Given the description of an element on the screen output the (x, y) to click on. 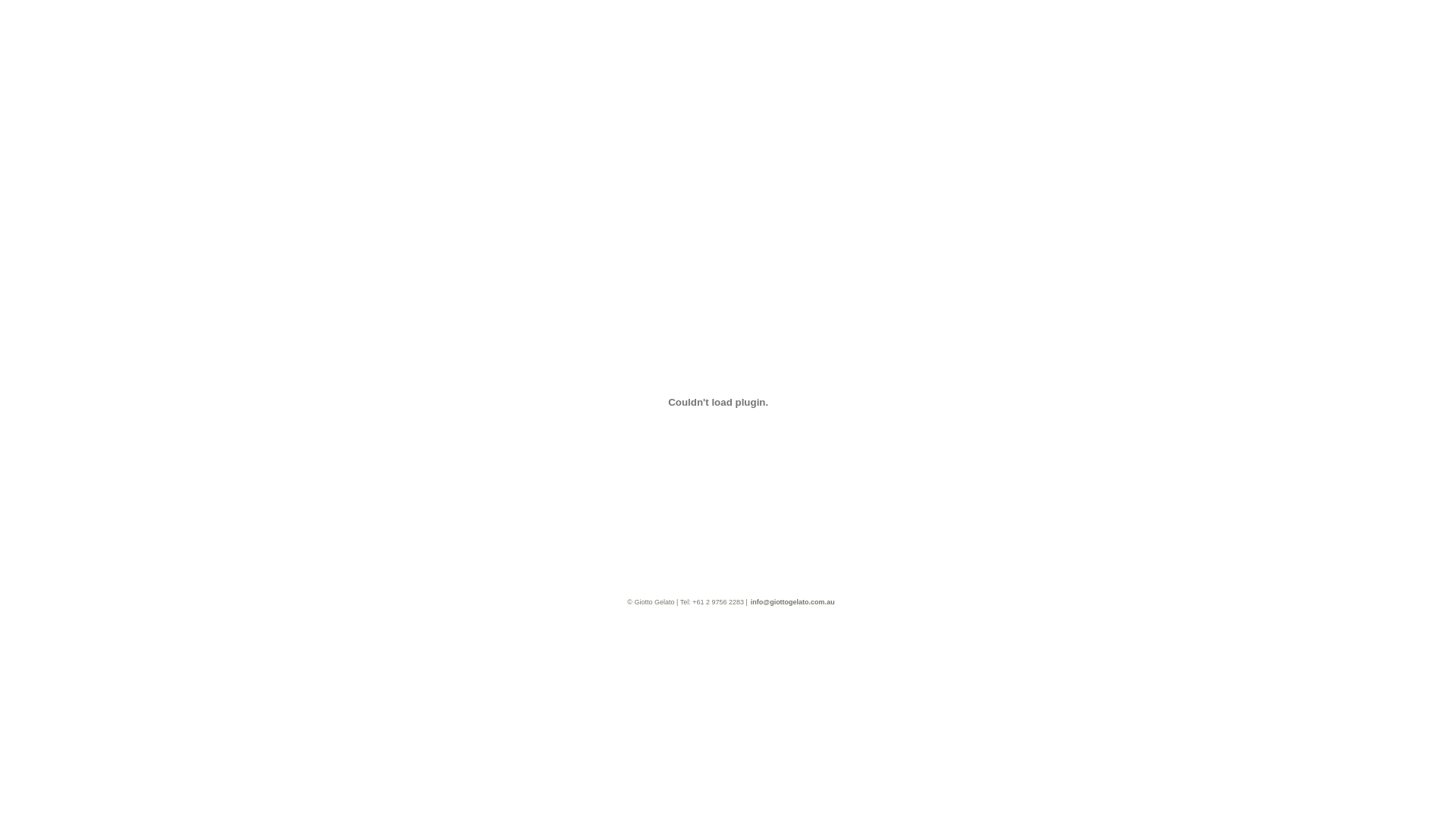
info@giottogelato.com.au Element type: text (792, 601)
